Given the description of an element on the screen output the (x, y) to click on. 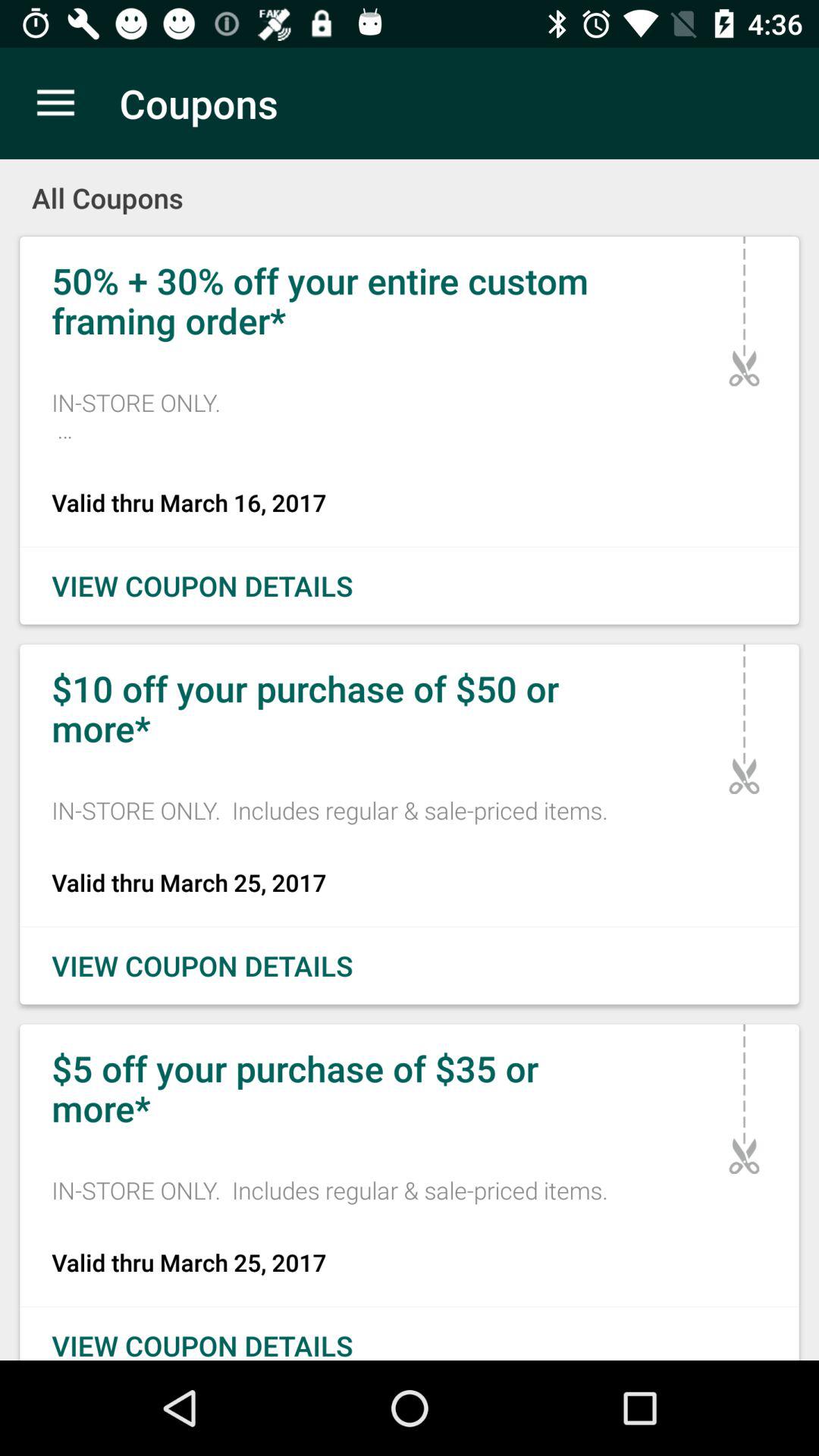
turn on all coupons icon (409, 187)
